Given the description of an element on the screen output the (x, y) to click on. 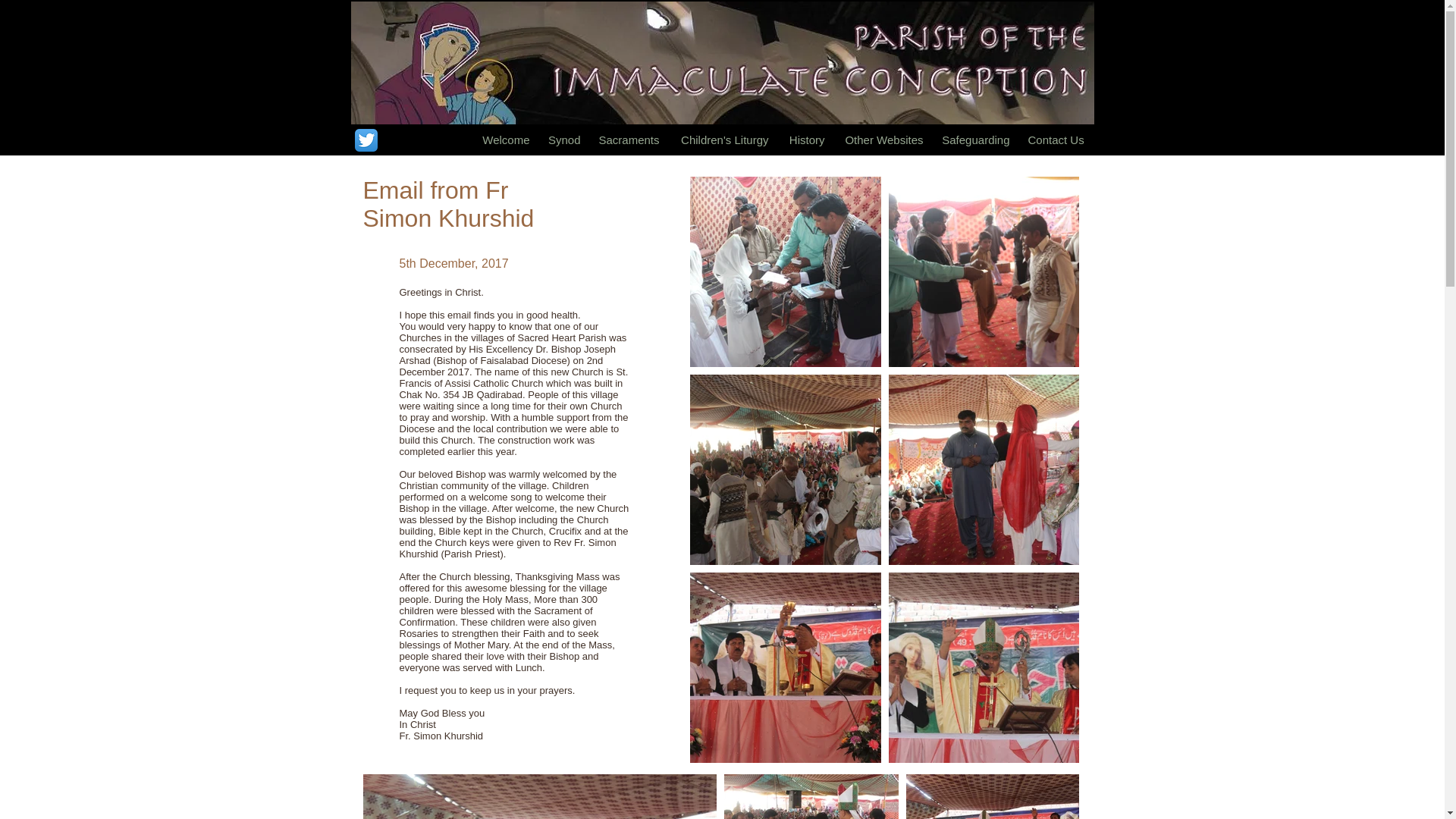
Children's Liturgy (722, 139)
Synod (563, 139)
History (805, 139)
Sacraments (628, 139)
Other Websites (883, 139)
Contact Us (1056, 139)
Safeguarding (976, 139)
Welcome (504, 139)
